Given the description of an element on the screen output the (x, y) to click on. 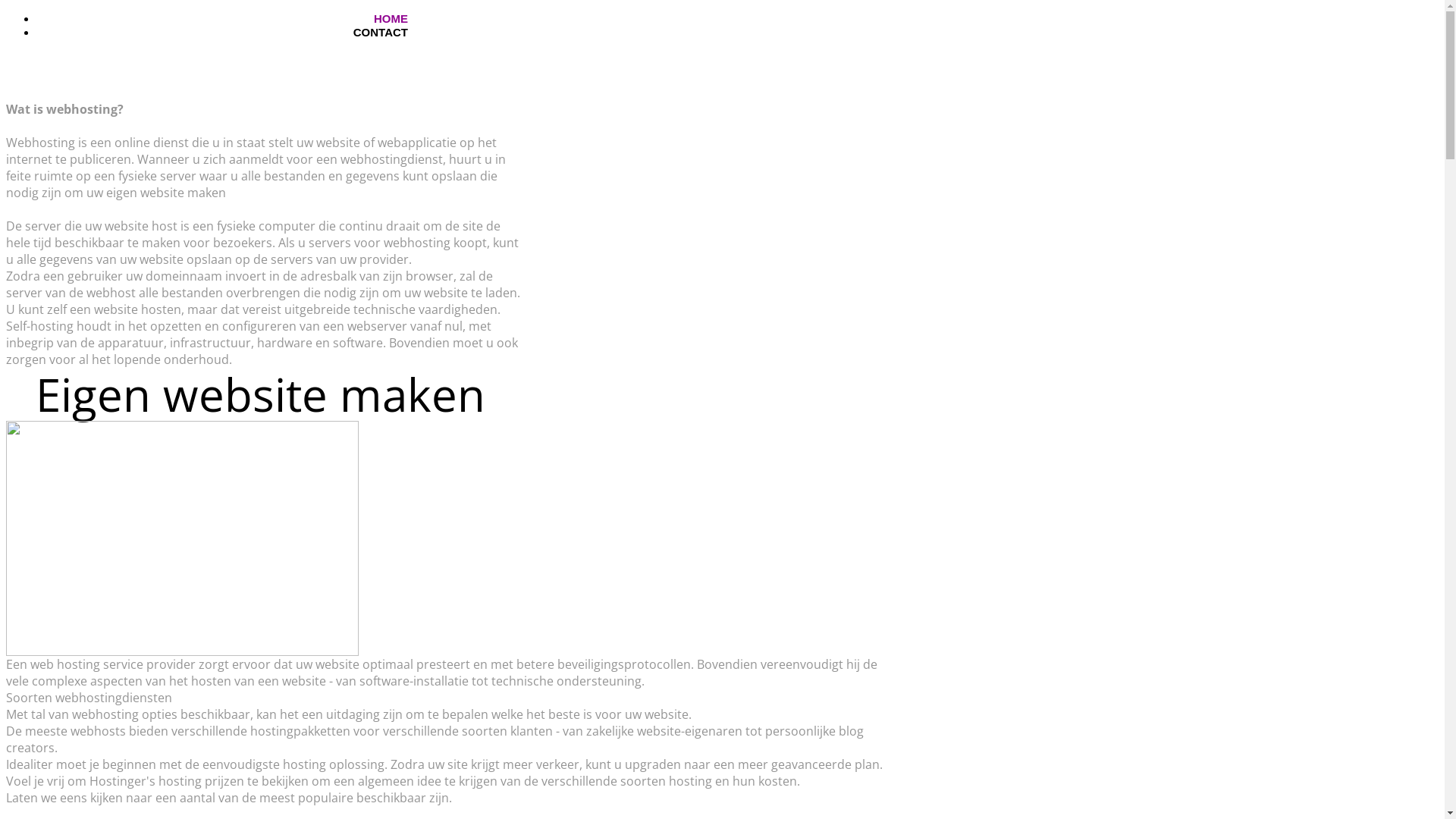
eigen website maken Element type: text (165, 192)
CONTACT Element type: text (380, 32)
HOME Element type: text (390, 18)
